Given the description of an element on the screen output the (x, y) to click on. 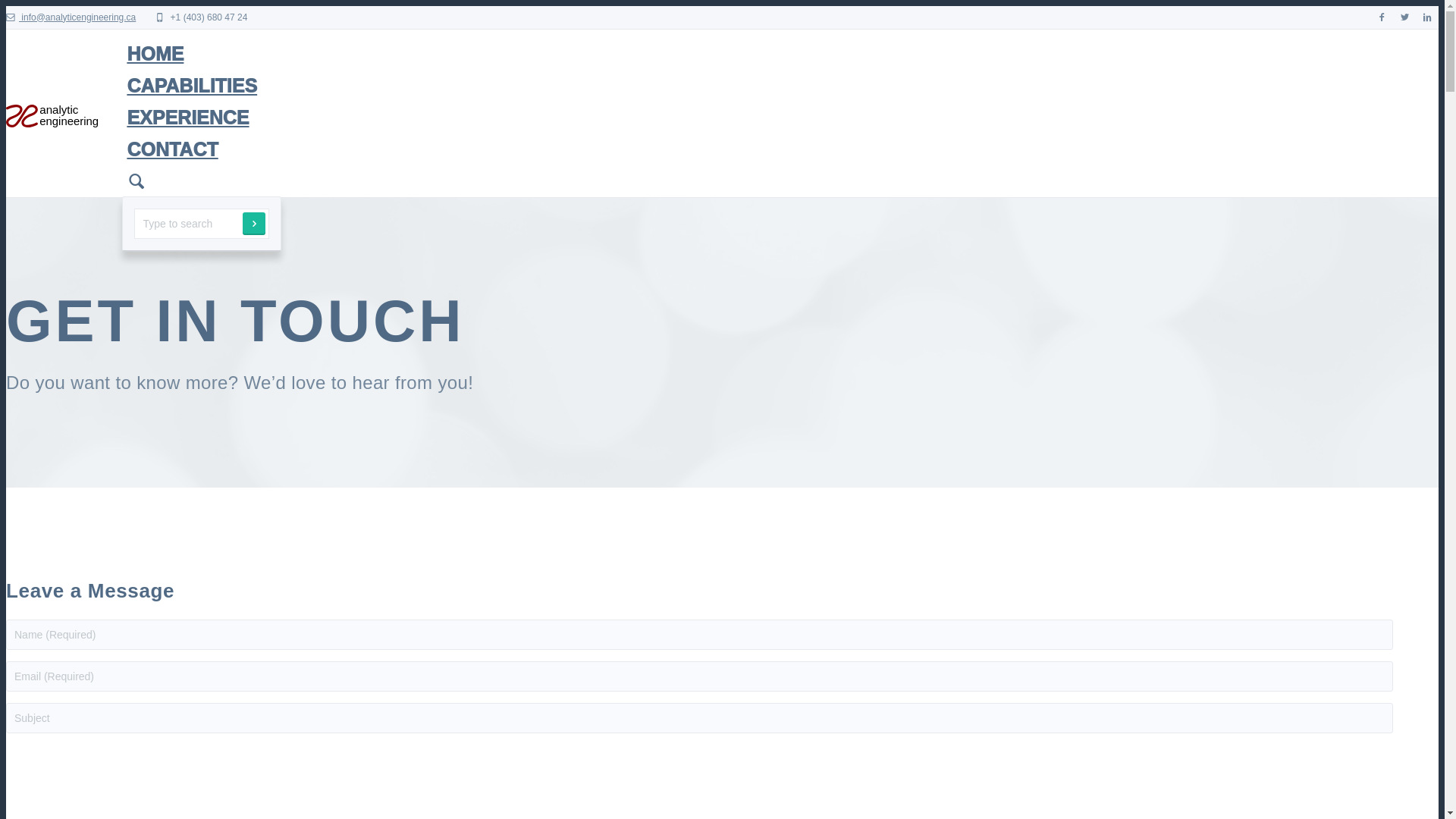
HOME Element type: text (780, 53)
CAPABILITIES Element type: text (780, 85)
info@analyticengineering.ca Element type: text (70, 17)
CONTACT Element type: text (780, 149)
EXPERIENCE Element type: text (780, 117)
